Given the description of an element on the screen output the (x, y) to click on. 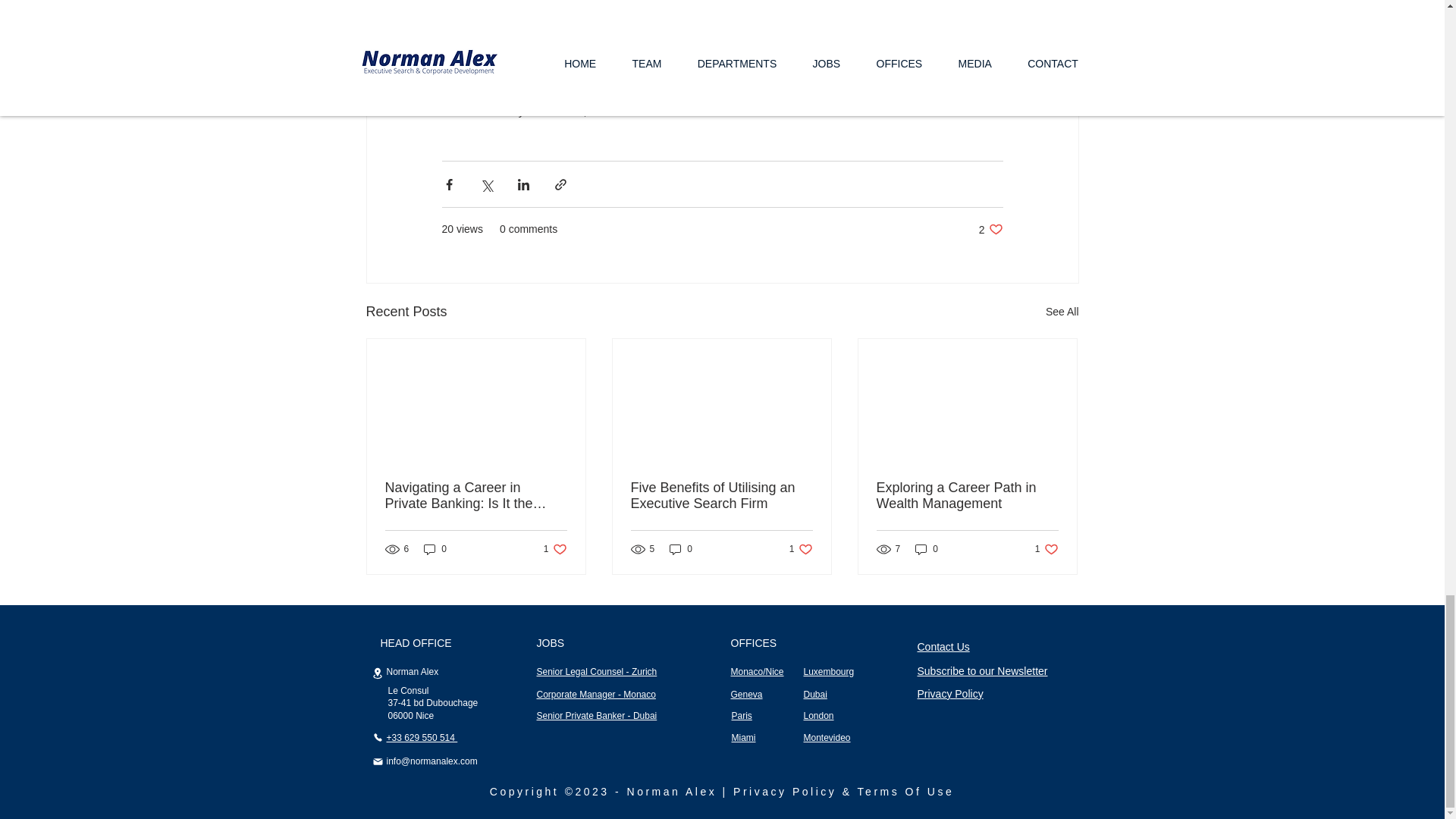
Five Benefits of Utilising an Executive Search Firm (990, 228)
See All (721, 495)
0 (1061, 311)
0 (555, 549)
